Given the description of an element on the screen output the (x, y) to click on. 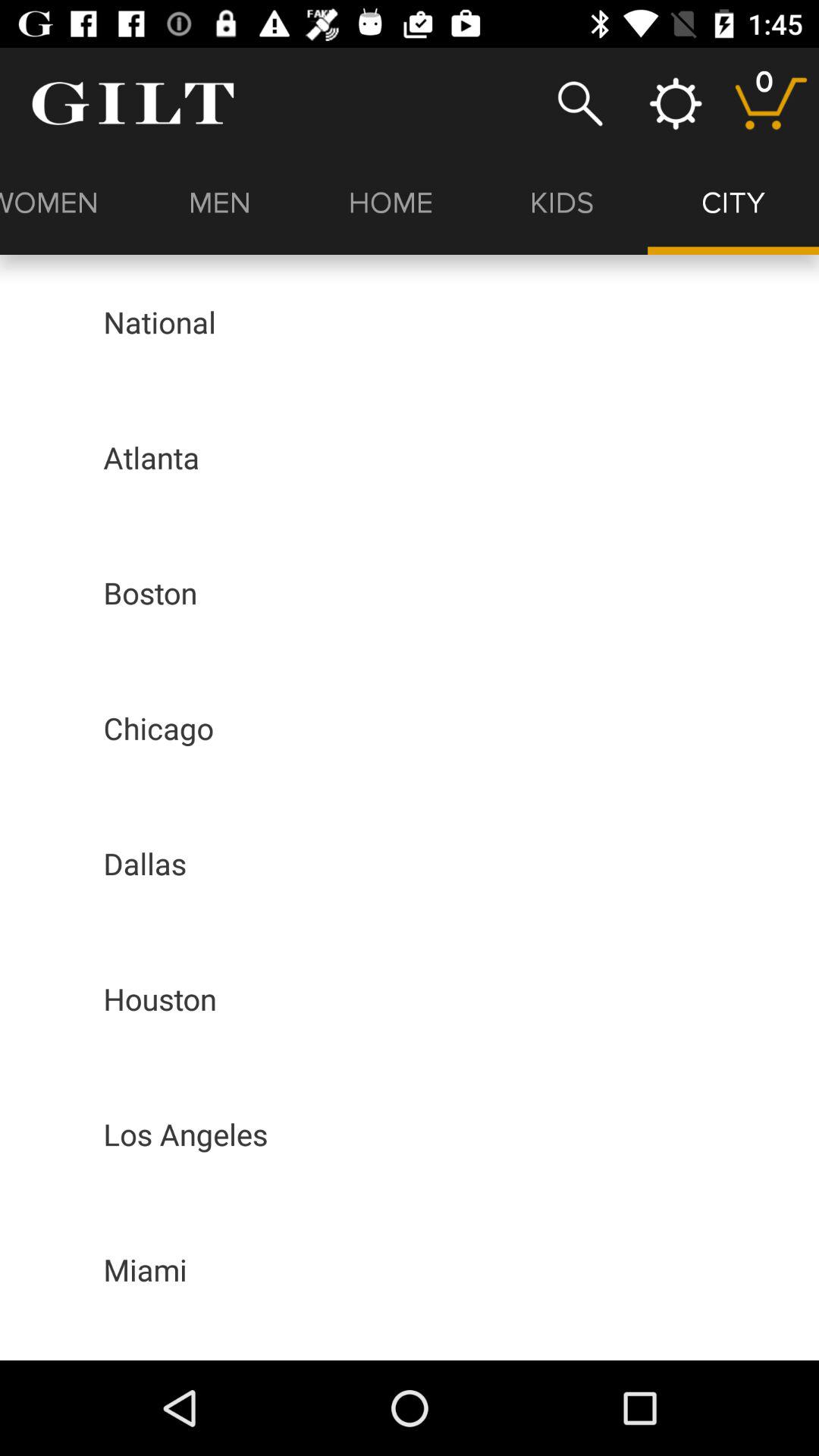
jump until the national icon (159, 322)
